Given the description of an element on the screen output the (x, y) to click on. 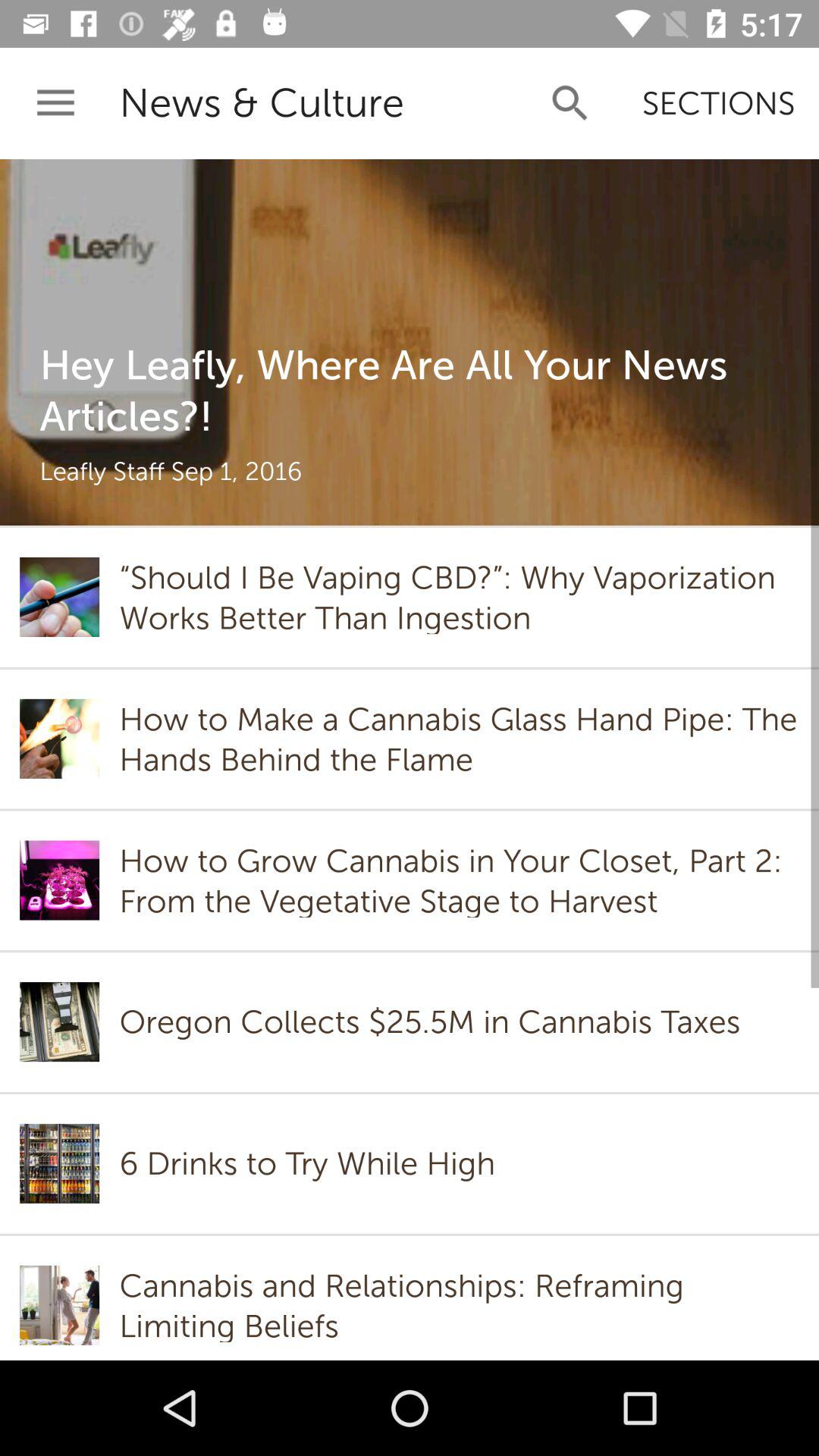
turn off the icon to the left of the sections (570, 103)
